Given the description of an element on the screen output the (x, y) to click on. 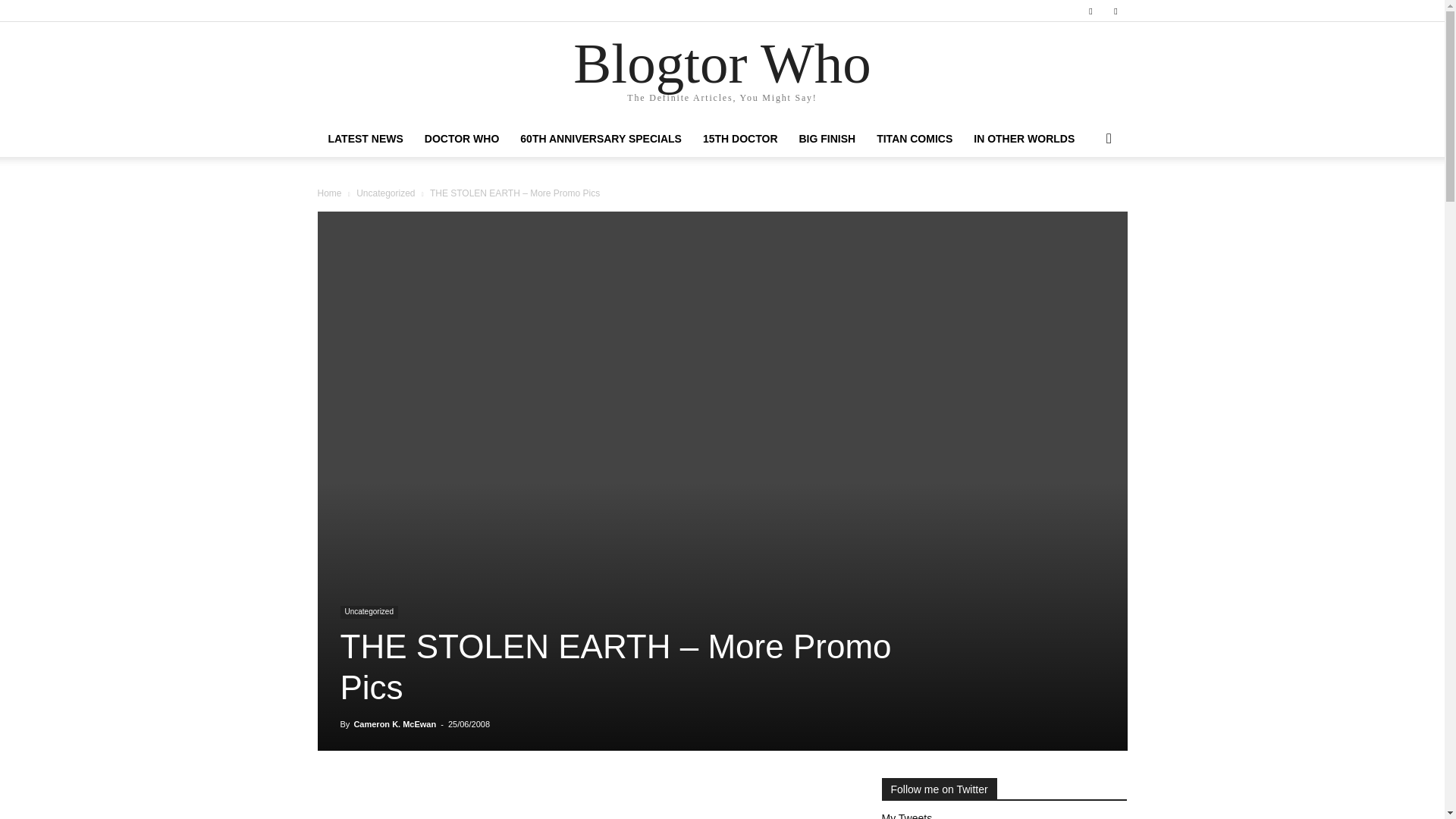
IN OTHER WORLDS (1023, 138)
Facebook (1090, 10)
Search (1085, 199)
Blogtor Who The Definite Articles, You Might Say! (722, 72)
View all posts in Uncategorized (385, 193)
Cameron K. McEwan (394, 723)
DOCTOR WHO (462, 138)
15TH DOCTOR (741, 138)
Home (328, 193)
TITAN COMICS (914, 138)
Uncategorized (385, 193)
Uncategorized (368, 612)
60TH ANNIVERSARY SPECIALS (601, 138)
Twitter (1114, 10)
BIG FINISH (827, 138)
